Given the description of an element on the screen output the (x, y) to click on. 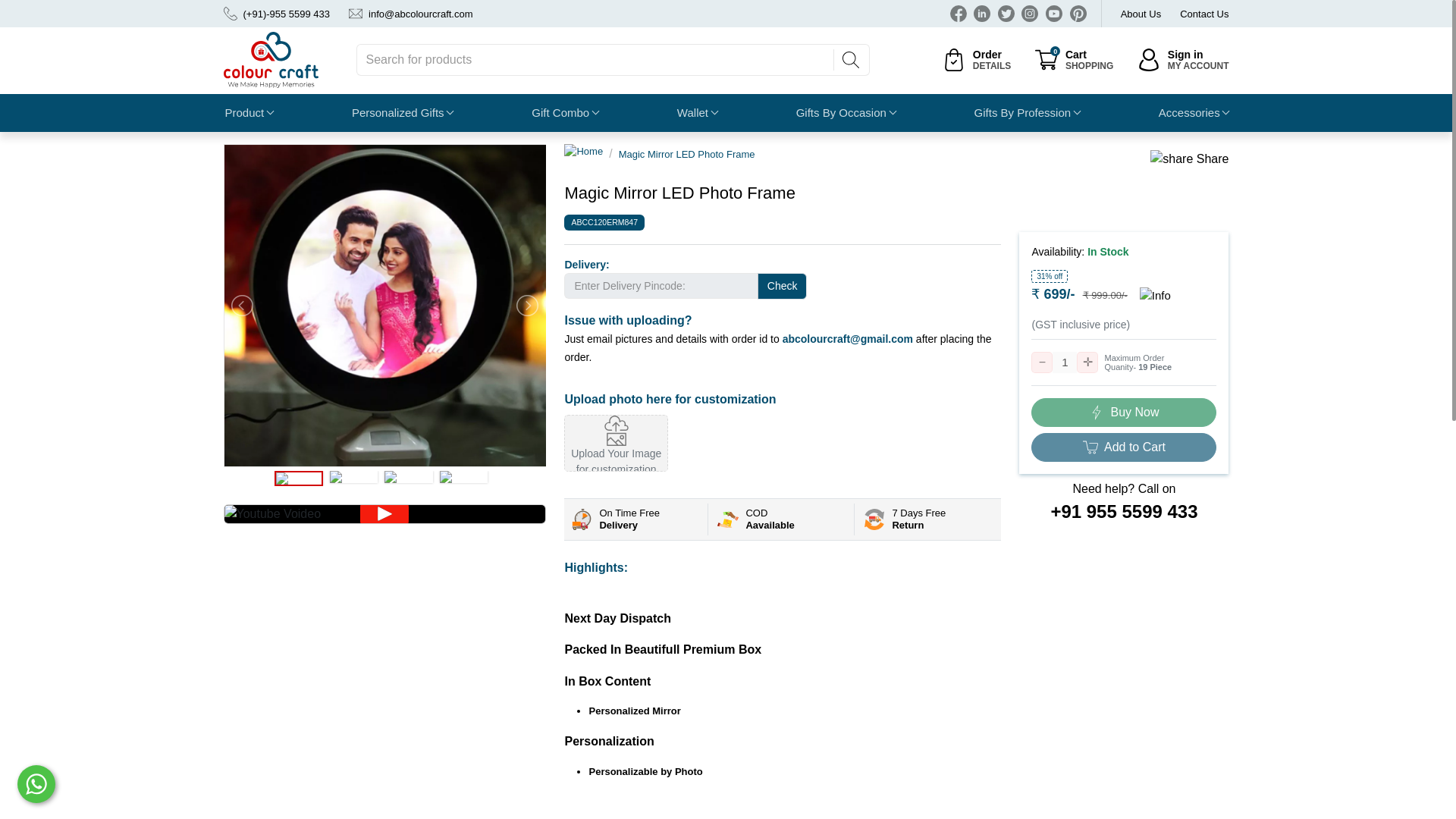
Gift Combo (563, 112)
Personalized Gifts (1182, 59)
Contact Us (401, 112)
Gift Combo (976, 59)
About Us (1203, 13)
Cart Shopping (563, 112)
Personalized Gifts (1140, 13)
My Order (1074, 59)
